Given the description of an element on the screen output the (x, y) to click on. 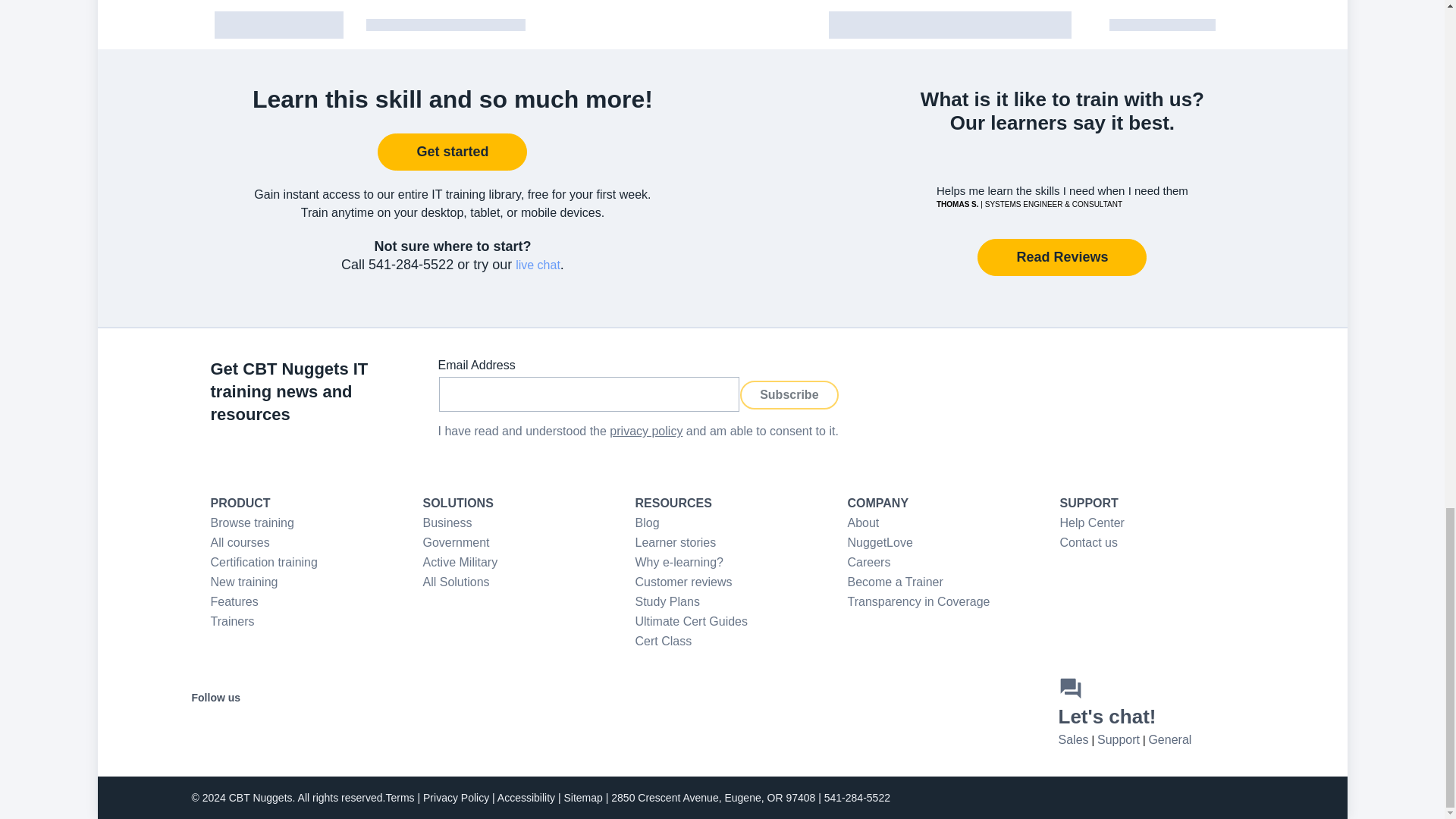
All Solutions (456, 581)
Careers (869, 562)
Get started (452, 151)
Subscribe (788, 394)
Business (447, 522)
live chat (537, 264)
Customer reviews (683, 581)
Become a Trainer (895, 581)
Why e-learning? (678, 562)
Browse training (252, 522)
Read Reviews (1061, 257)
Blog (646, 522)
Certification training (264, 562)
Trainers (232, 621)
Ultimate Cert Guides (691, 621)
